Given the description of an element on the screen output the (x, y) to click on. 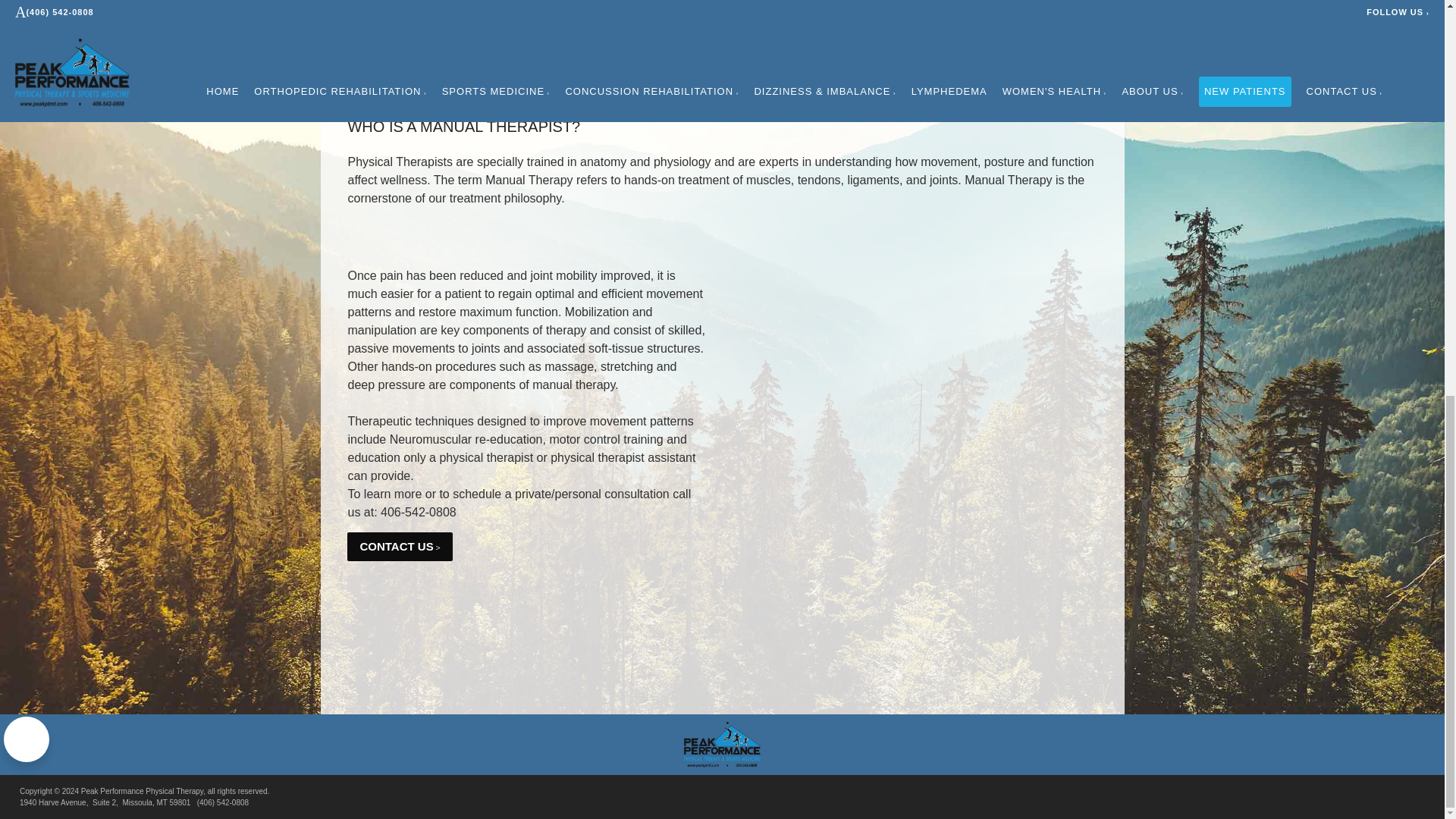
Peak Performance Physical Therapy (722, 744)
